Given the description of an element on the screen output the (x, y) to click on. 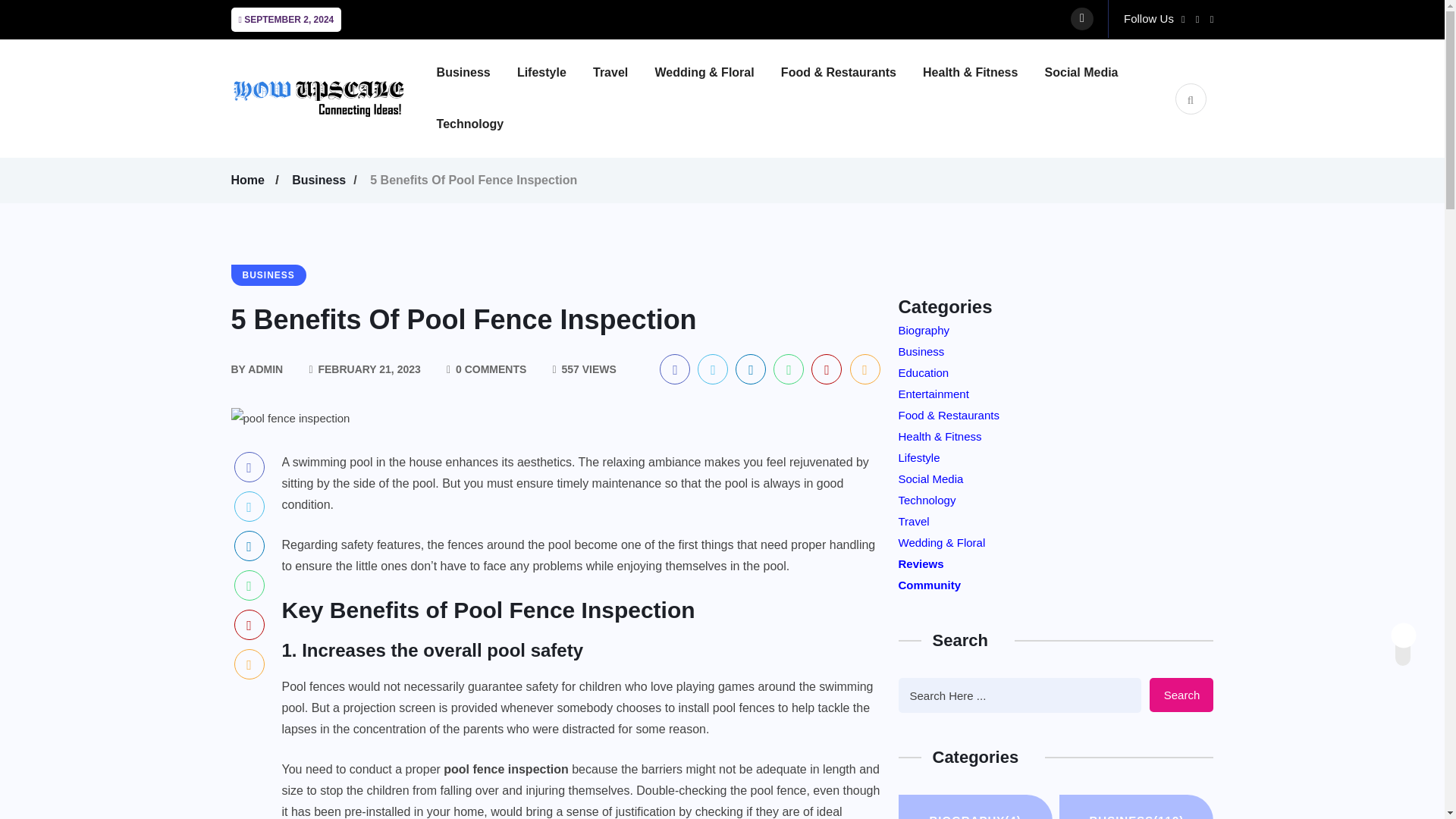
on (1415, 631)
Technology (481, 123)
Business (474, 72)
Lifestyle (552, 72)
Travel (621, 72)
Social Media (1093, 72)
5 Benefits Of Pool Fence Inspection 5 (289, 418)
